Given the description of an element on the screen output the (x, y) to click on. 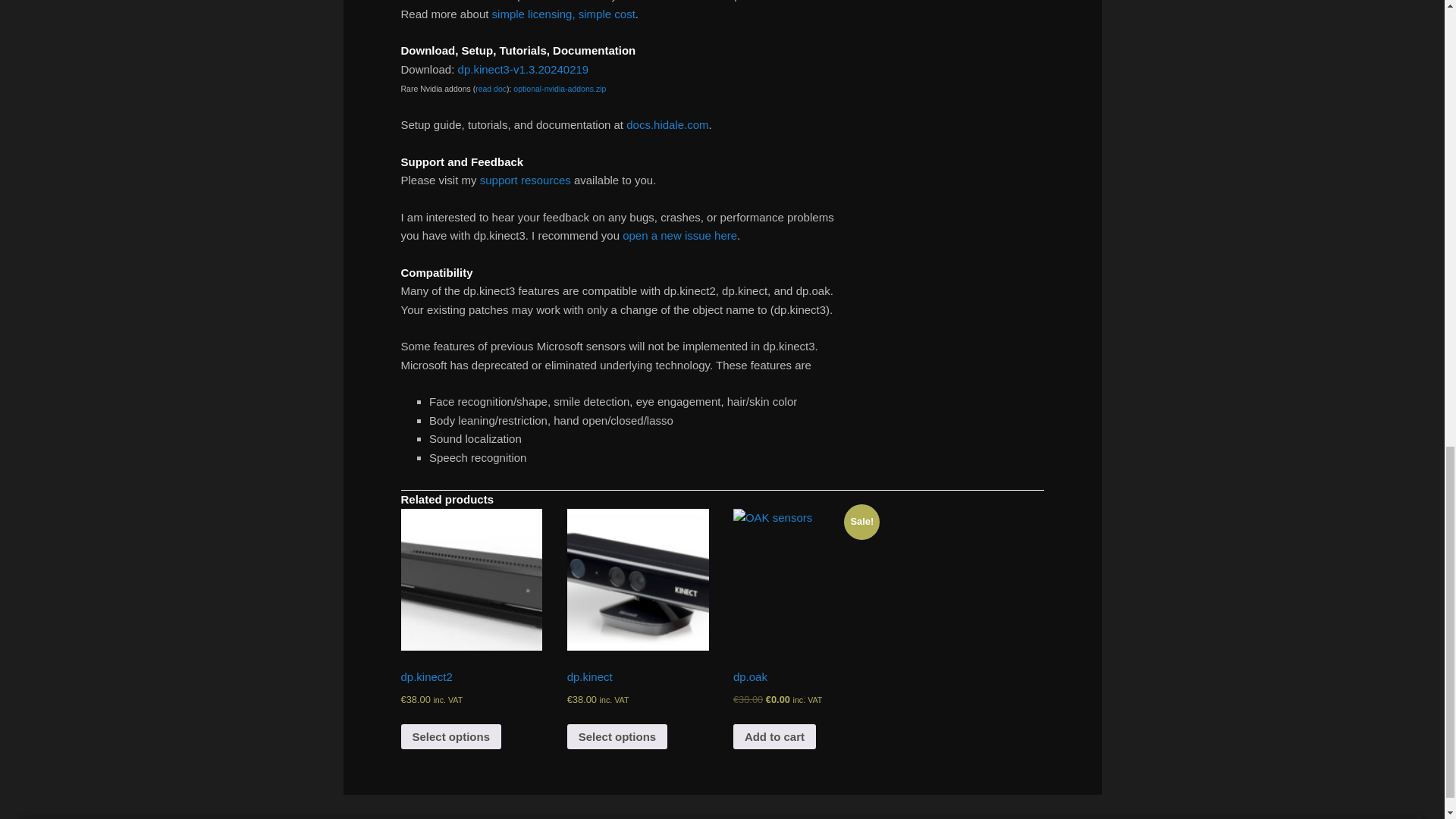
Terms and Conditions (563, 12)
